Given the description of an element on the screen output the (x, y) to click on. 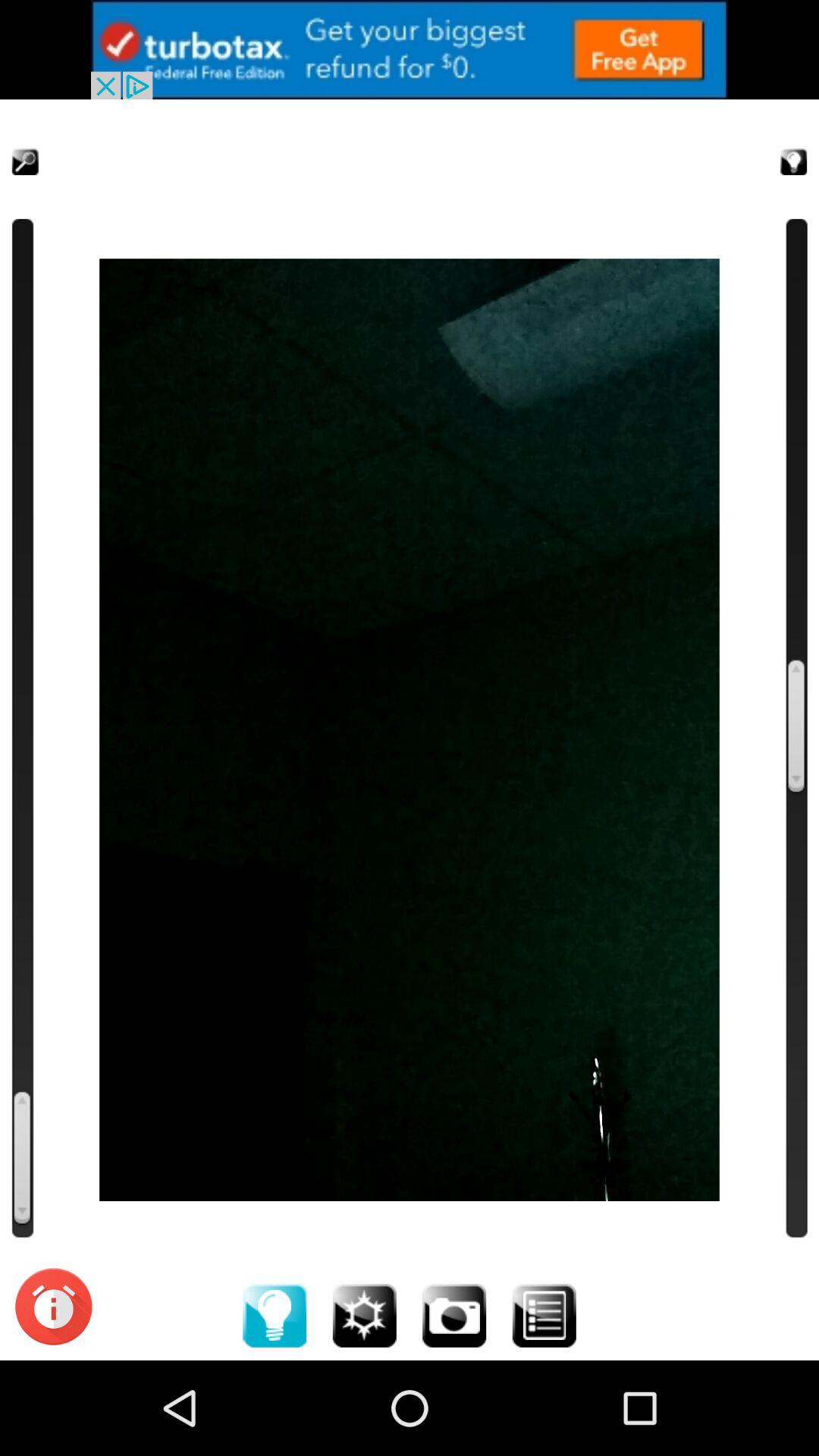
advertisement (409, 49)
